Given the description of an element on the screen output the (x, y) to click on. 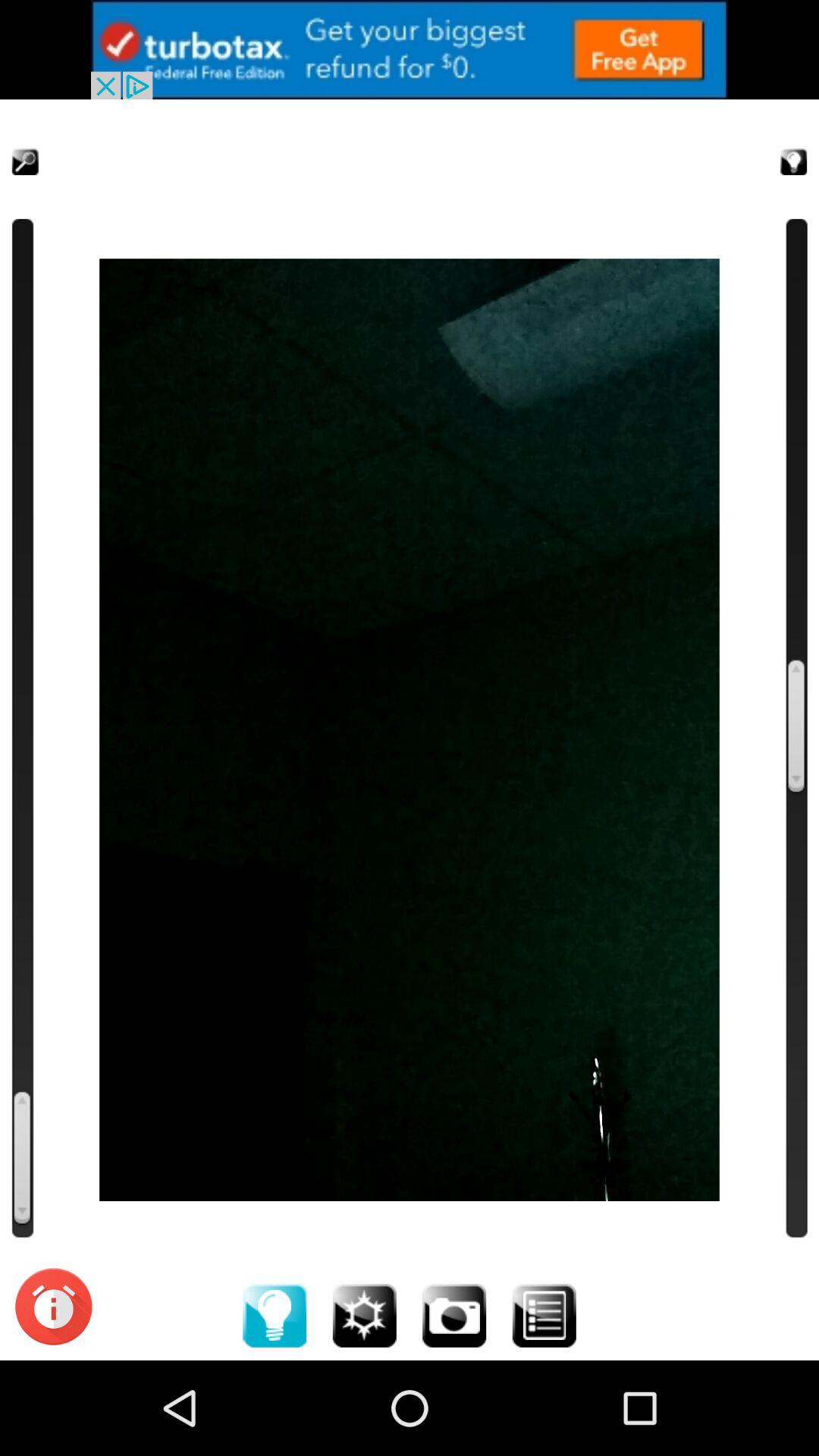
advertisement (409, 49)
